Given the description of an element on the screen output the (x, y) to click on. 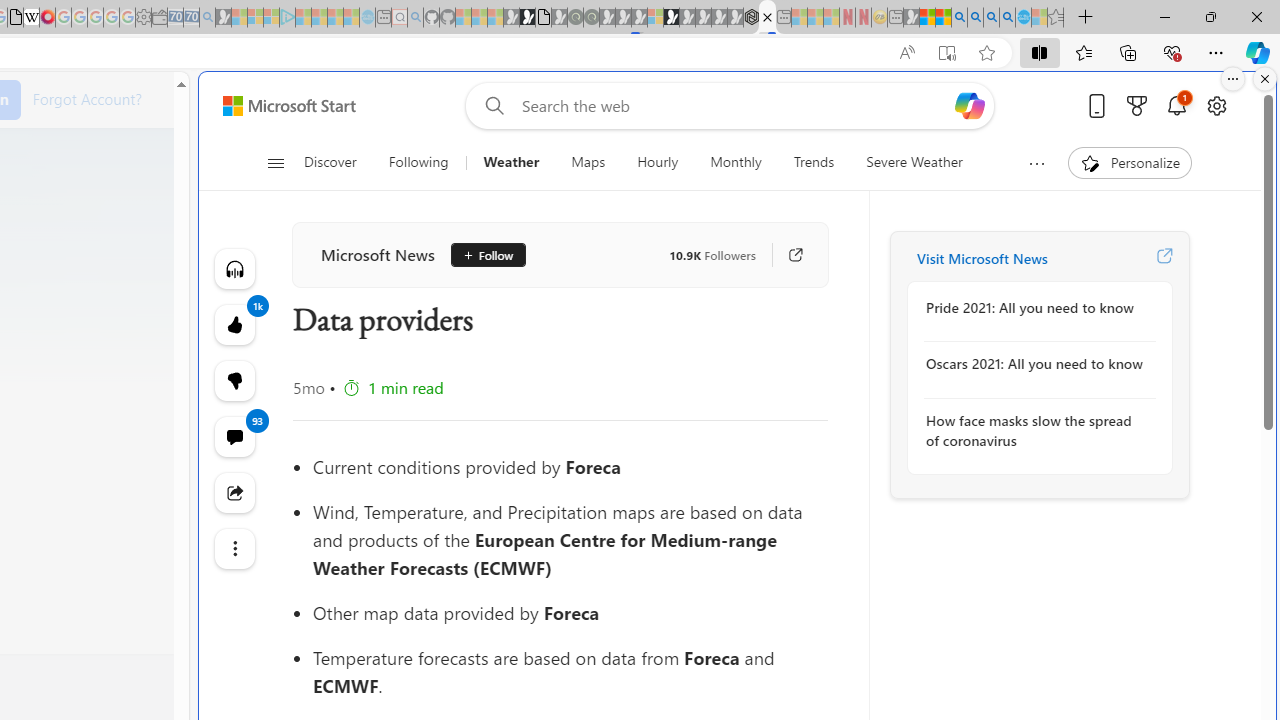
Restore (1210, 16)
github - Search - Sleeping (415, 17)
Severe Weather (914, 162)
Microsoft News (377, 254)
Forgot Account? (87, 97)
New tab - Sleeping (895, 17)
Show more topics (1036, 163)
Weather (511, 162)
Close (1256, 16)
Minimize (1164, 16)
Web search (490, 105)
